Given the description of an element on the screen output the (x, y) to click on. 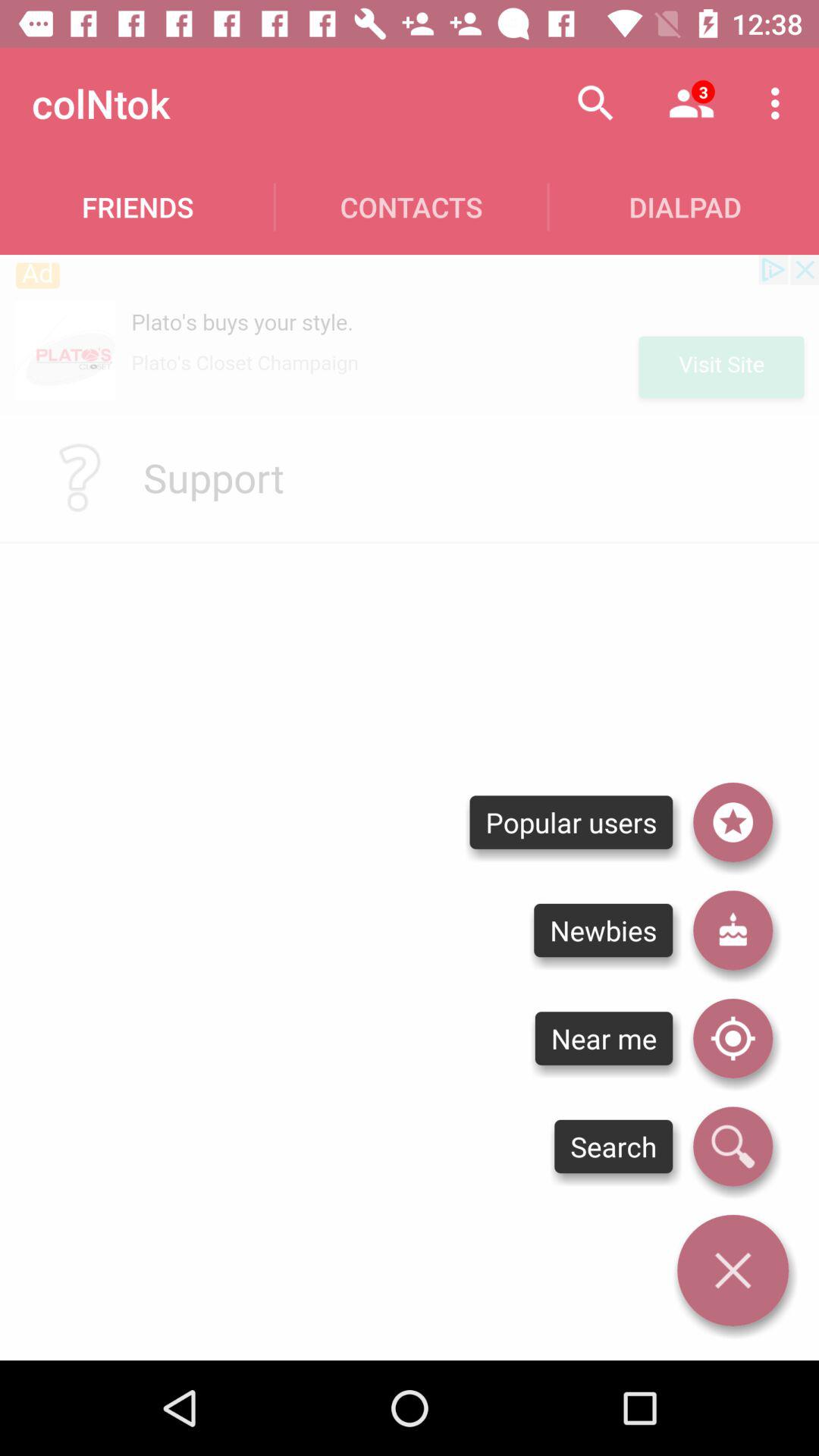
swipe to popular users item (571, 822)
